Given the description of an element on the screen output the (x, y) to click on. 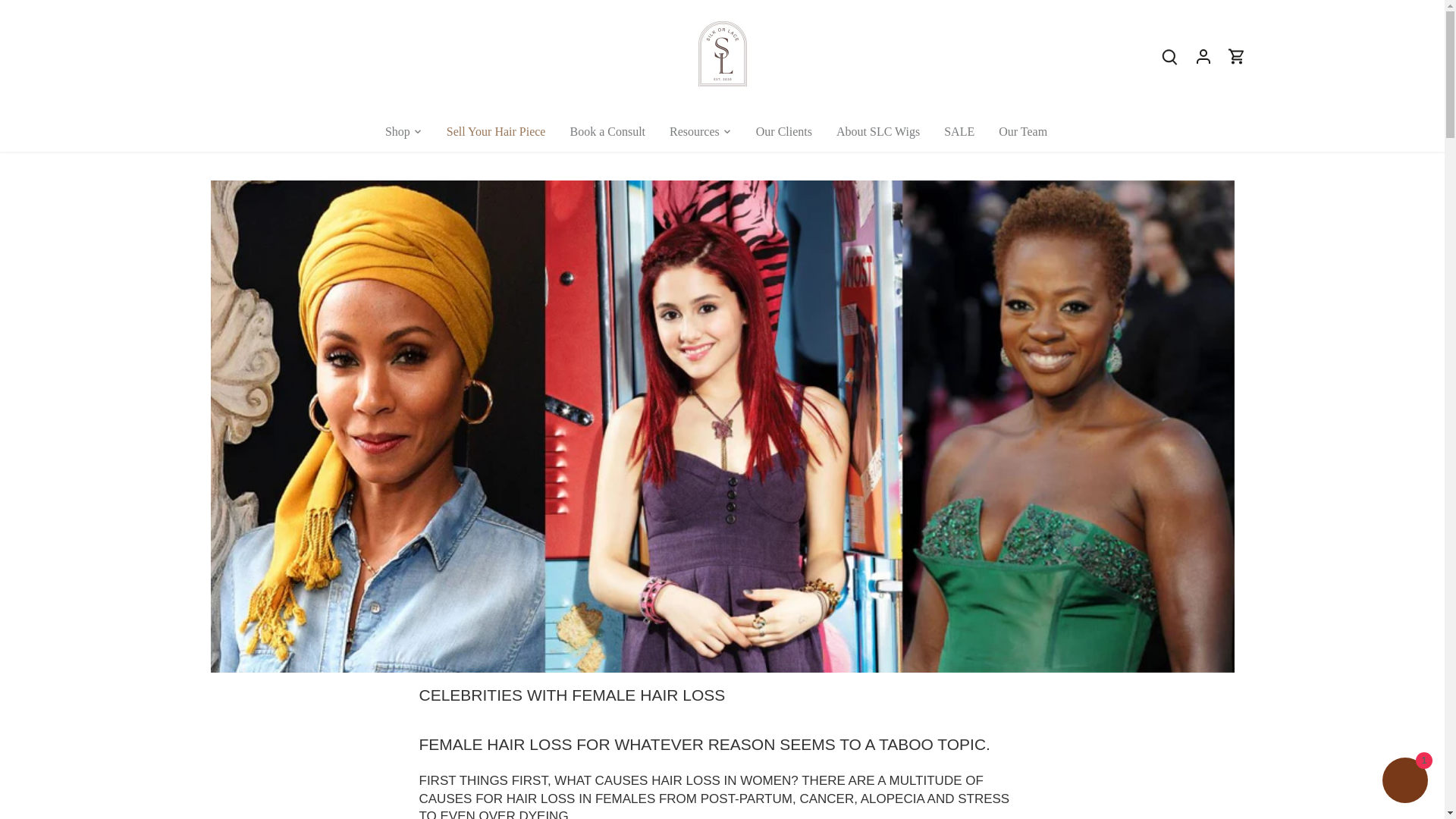
Resources (695, 131)
Our Team (1023, 131)
Our Clients (784, 131)
About SLC Wigs (877, 131)
SALE (959, 131)
Shopify online store chat (1404, 781)
Shop (403, 131)
Go to cart (1236, 55)
Sell Your Hair Piece (495, 131)
Book a Consult (607, 131)
